Given the description of an element on the screen output the (x, y) to click on. 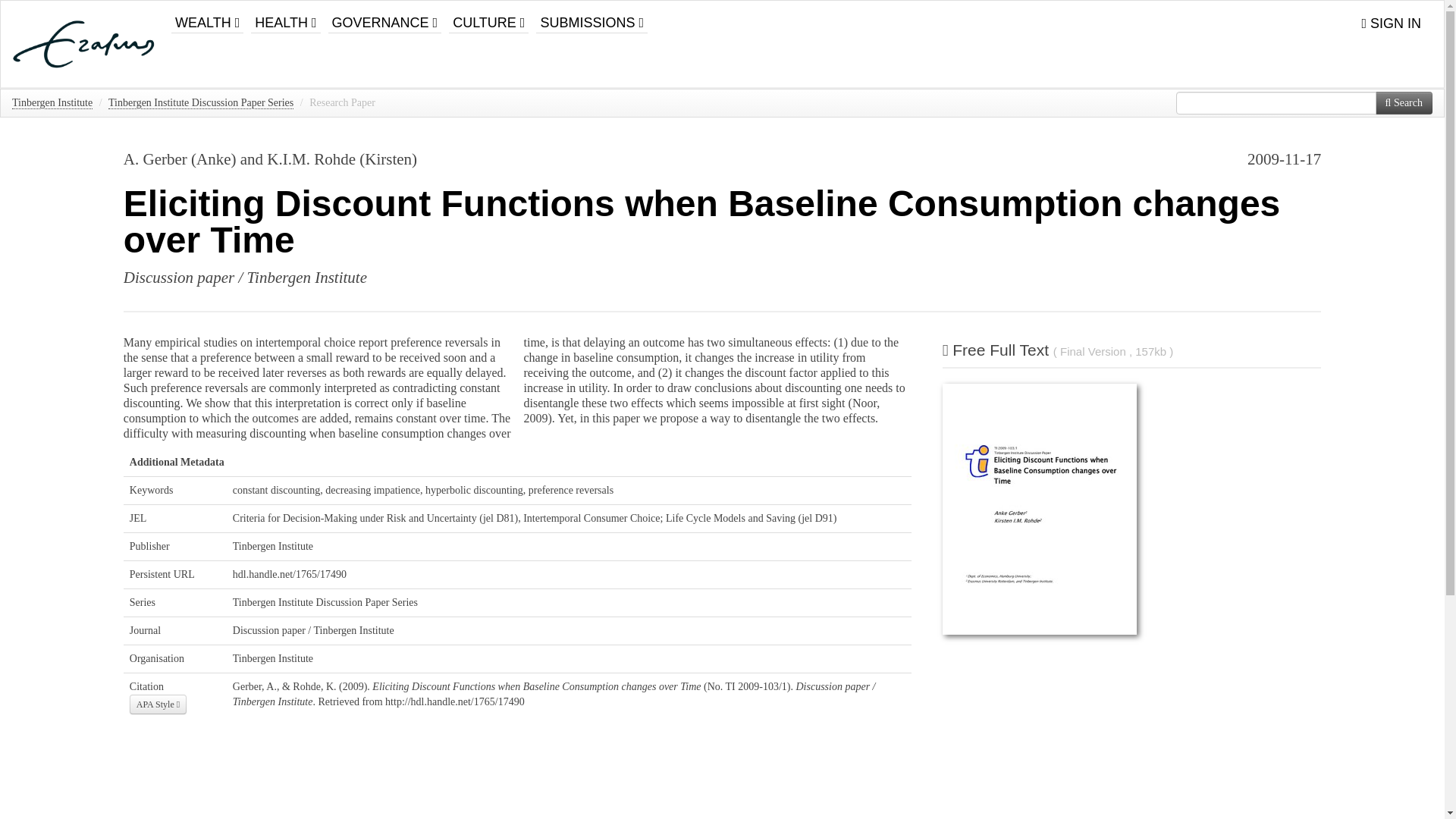
Tinbergen Institute (272, 658)
SIGN IN (1391, 23)
APA Style (157, 704)
Tinbergen Institute Discussion Paper Series (324, 602)
GOVERNANCE (385, 16)
Tinbergen Institute Discussion Paper Series (200, 102)
Tinbergen Institute (52, 102)
CULTURE (488, 16)
Tinbergen Institute (272, 546)
SUBMISSIONS (591, 16)
HEALTH (285, 16)
Search (1403, 102)
WEALTH (207, 16)
